Given the description of an element on the screen output the (x, y) to click on. 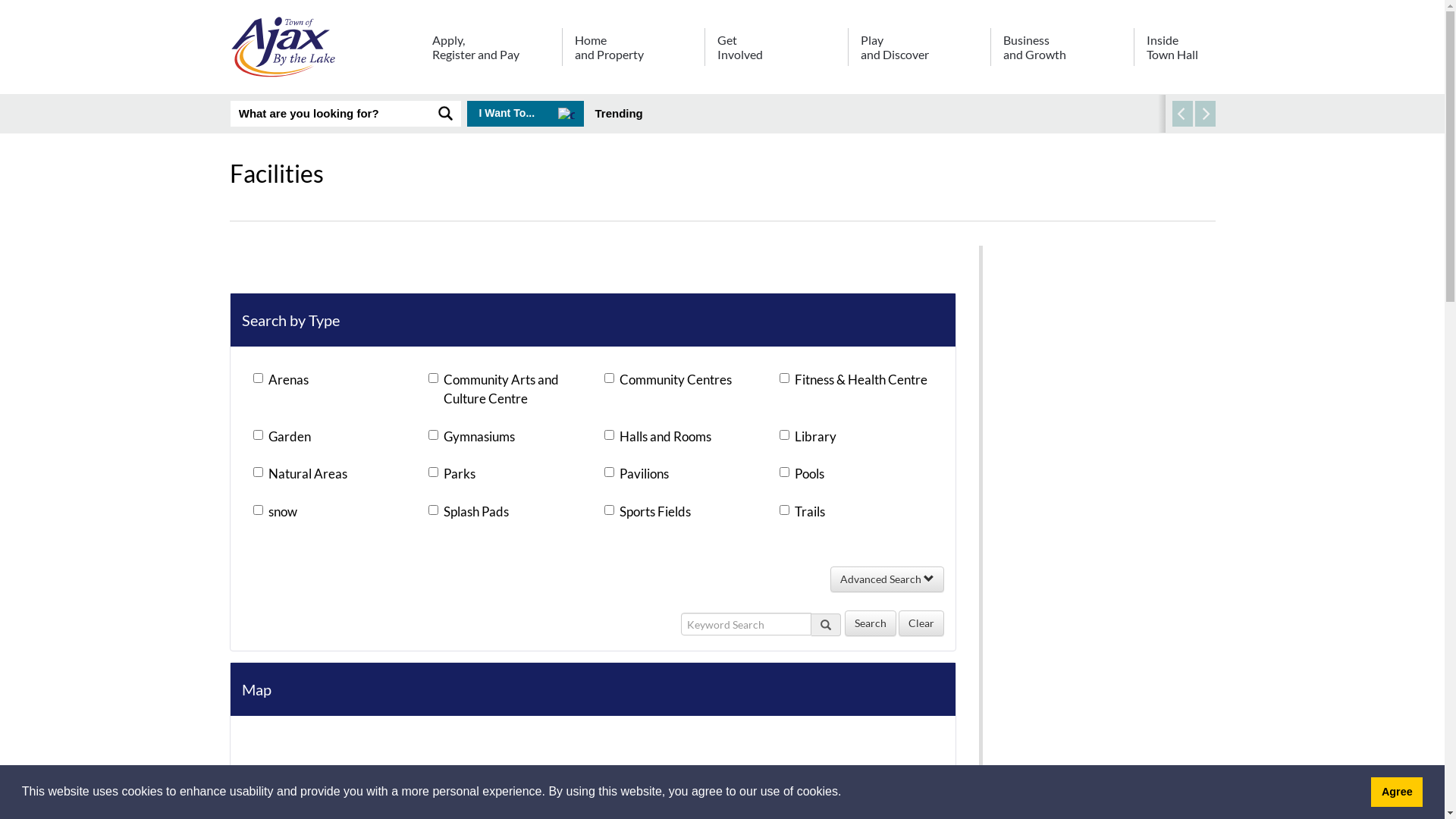
Click to return to the homepage Element type: hover (285, 46)
Get
Involved Element type: text (775, 51)
Clear Element type: text (920, 623)
Business
and Growth Element type: text (1061, 51)
Search Element type: text (870, 623)
Search Element type: text (1055, 466)
Skip to Content Element type: text (0, 0)
View our Homepage Element type: hover (285, 49)
Default text size Element type: hover (1126, 192)
SEARCH Element type: text (445, 113)
Home
and Property Element type: text (632, 51)
Enter search keywords Element type: hover (330, 113)
Play
and Discover Element type: text (918, 51)
Share Element type: text (1206, 192)
Decrease text size Element type: hover (1112, 192)
Print Element type: text (1173, 192)
Apply,
Register and Pay Element type: text (489, 51)
Increase text size Element type: hover (1142, 192)
Search Element type: text (1055, 210)
Advanced Search Element type: text (886, 579)
Inside
Town Hall Element type: text (1173, 51)
Agree Element type: text (1396, 791)
I Want To... Element type: text (525, 113)
